Given the description of an element on the screen output the (x, y) to click on. 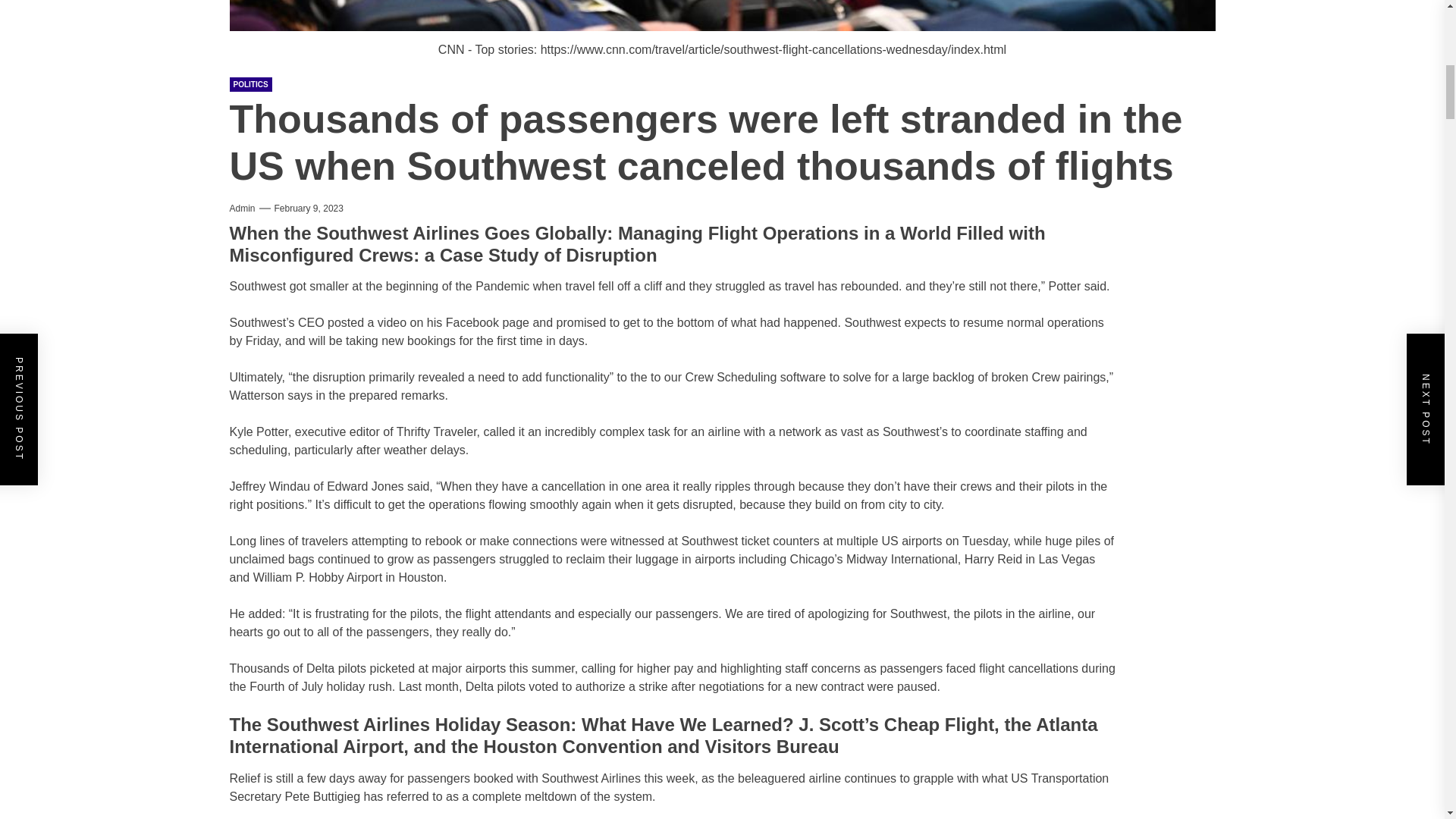
POLITICS (249, 83)
Admin (241, 208)
